Given the description of an element on the screen output the (x, y) to click on. 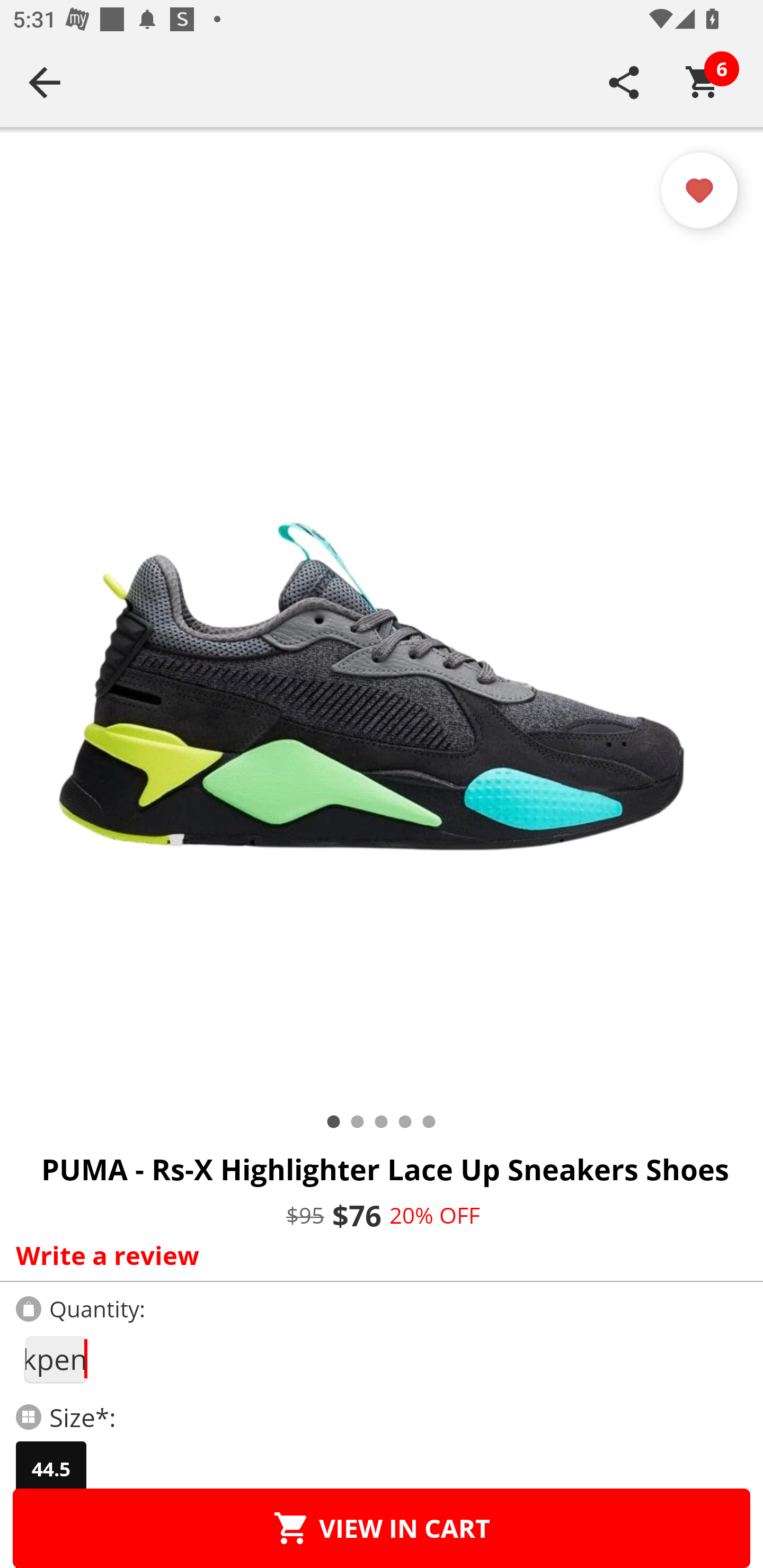
Navigate up (44, 82)
SHARE (623, 82)
Cart (703, 81)
Write a review (377, 1255)
1tissuenotebookpen (55, 1358)
44.5 (51, 1468)
VIEW IN CART (381, 1528)
